Given the description of an element on the screen output the (x, y) to click on. 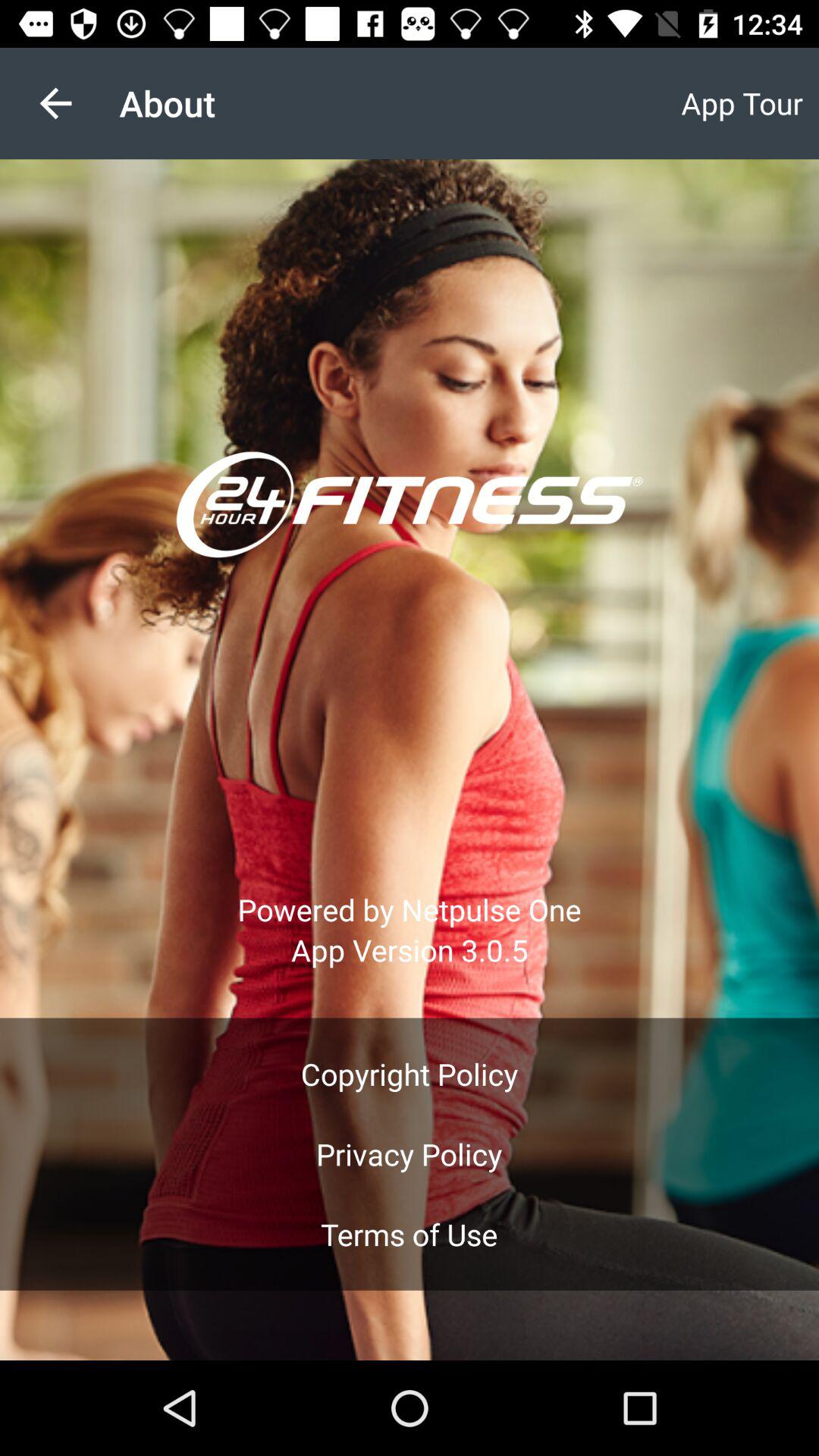
turn off privacy policy icon (409, 1154)
